Given the description of an element on the screen output the (x, y) to click on. 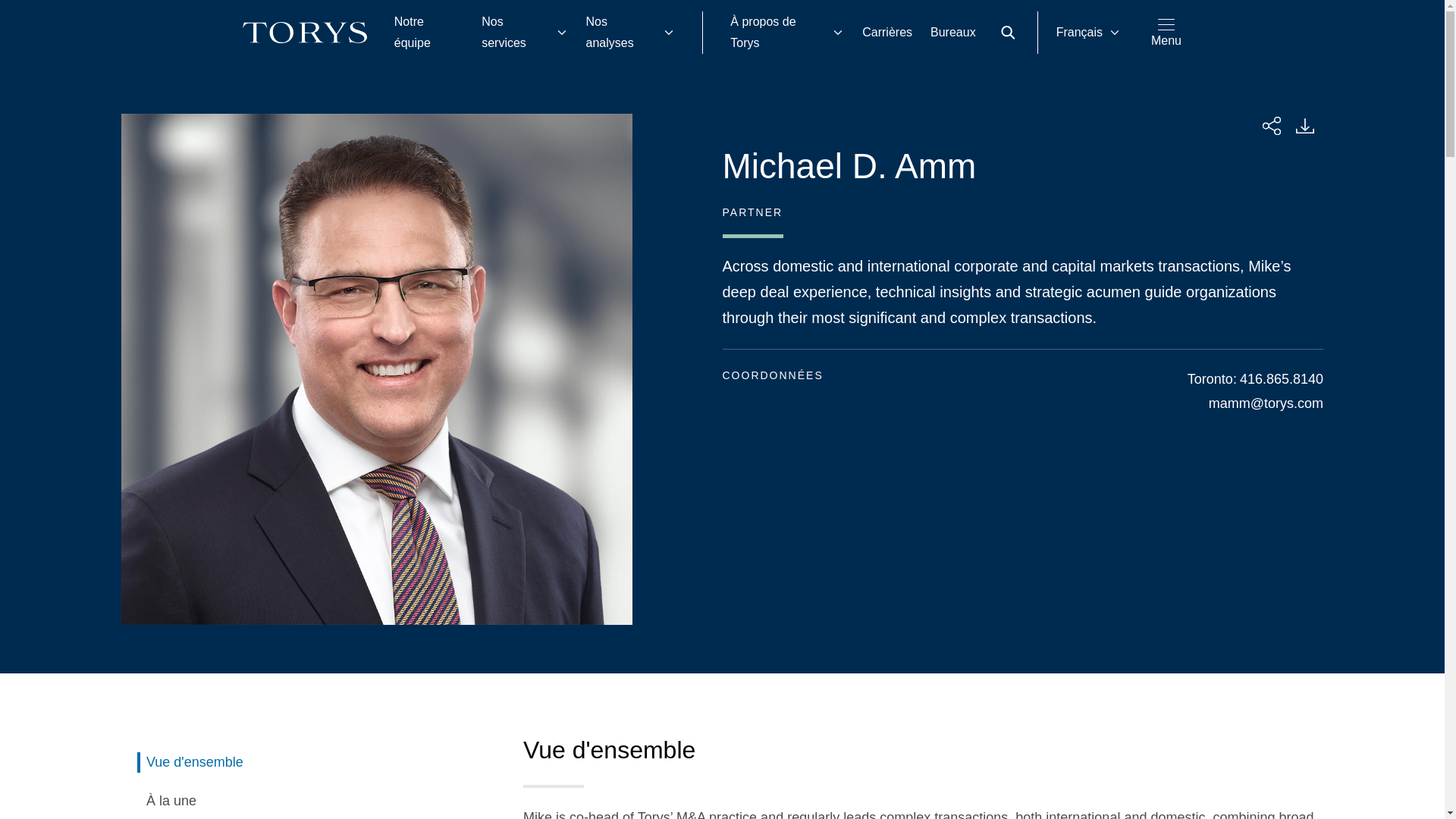
Partager (1271, 126)
Menu (1166, 32)
Vue d'ensemble (307, 762)
416.865.8140 (1281, 378)
Bureaux (953, 32)
Nos analyses (630, 32)
Nos services (523, 32)
